Given the description of an element on the screen output the (x, y) to click on. 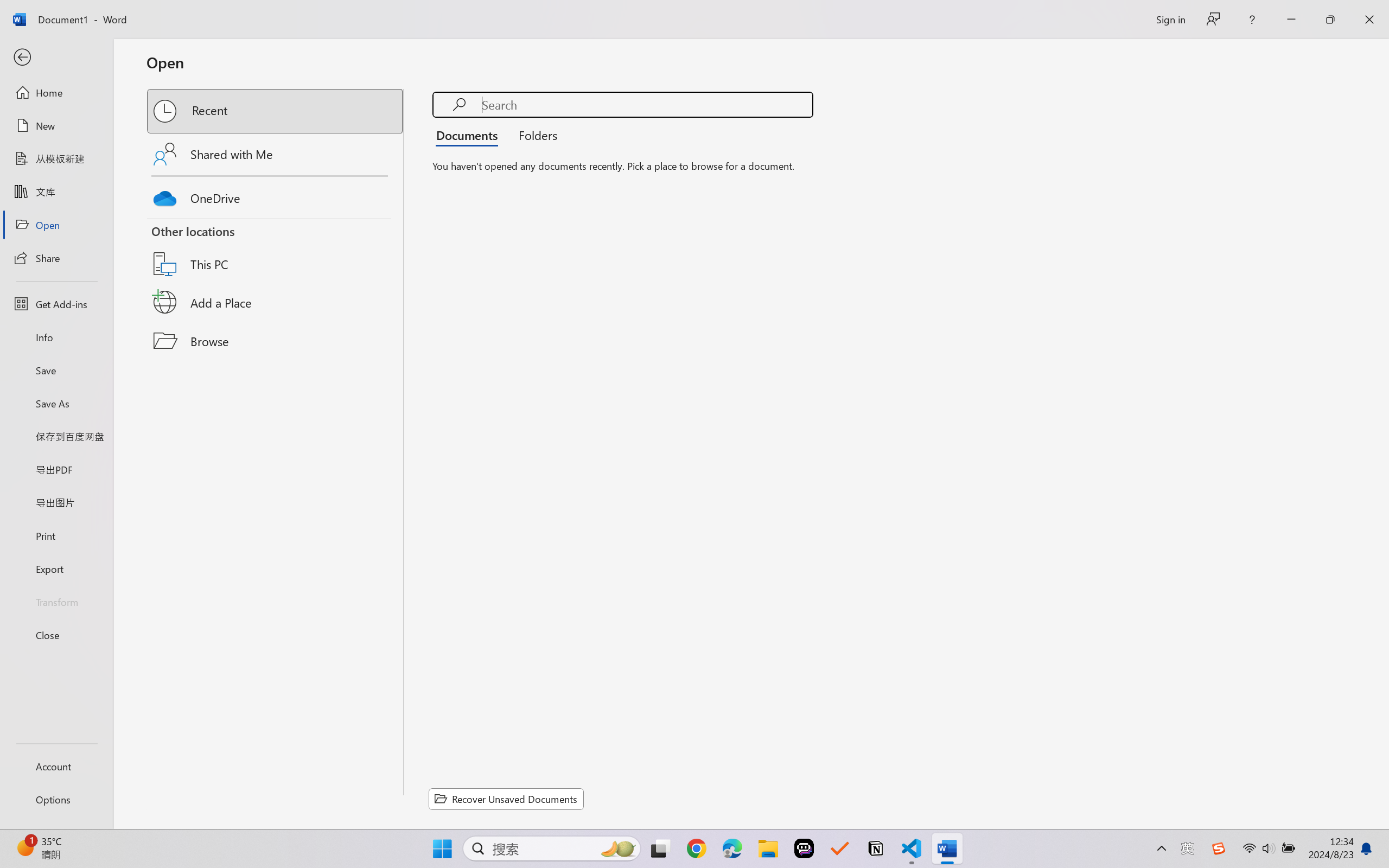
Shared with Me (275, 153)
Browse (275, 340)
This PC (275, 249)
Save As (56, 403)
Add a Place (275, 302)
Recent (275, 110)
Back (56, 57)
Options (56, 798)
Print (56, 535)
New (56, 125)
